Given the description of an element on the screen output the (x, y) to click on. 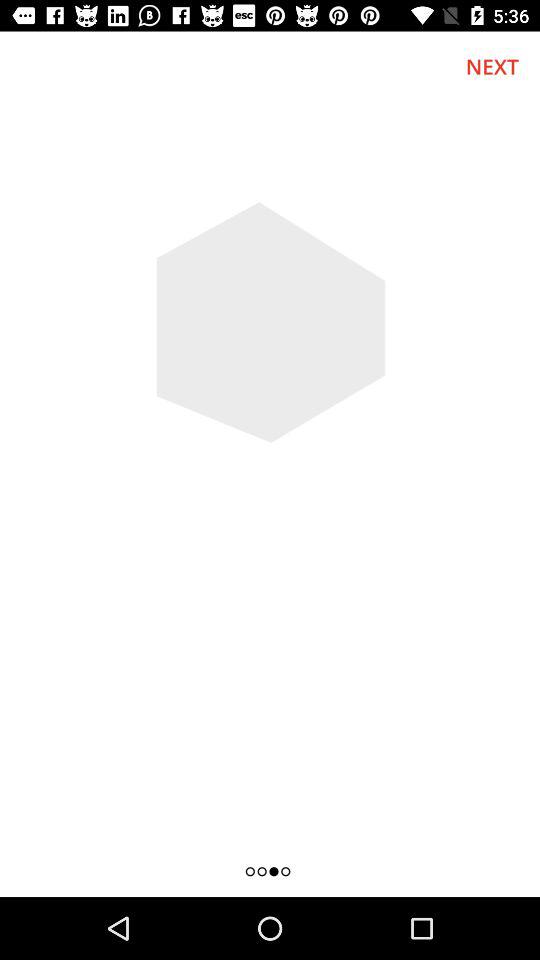
select the item at the top right corner (492, 66)
